Given the description of an element on the screen output the (x, y) to click on. 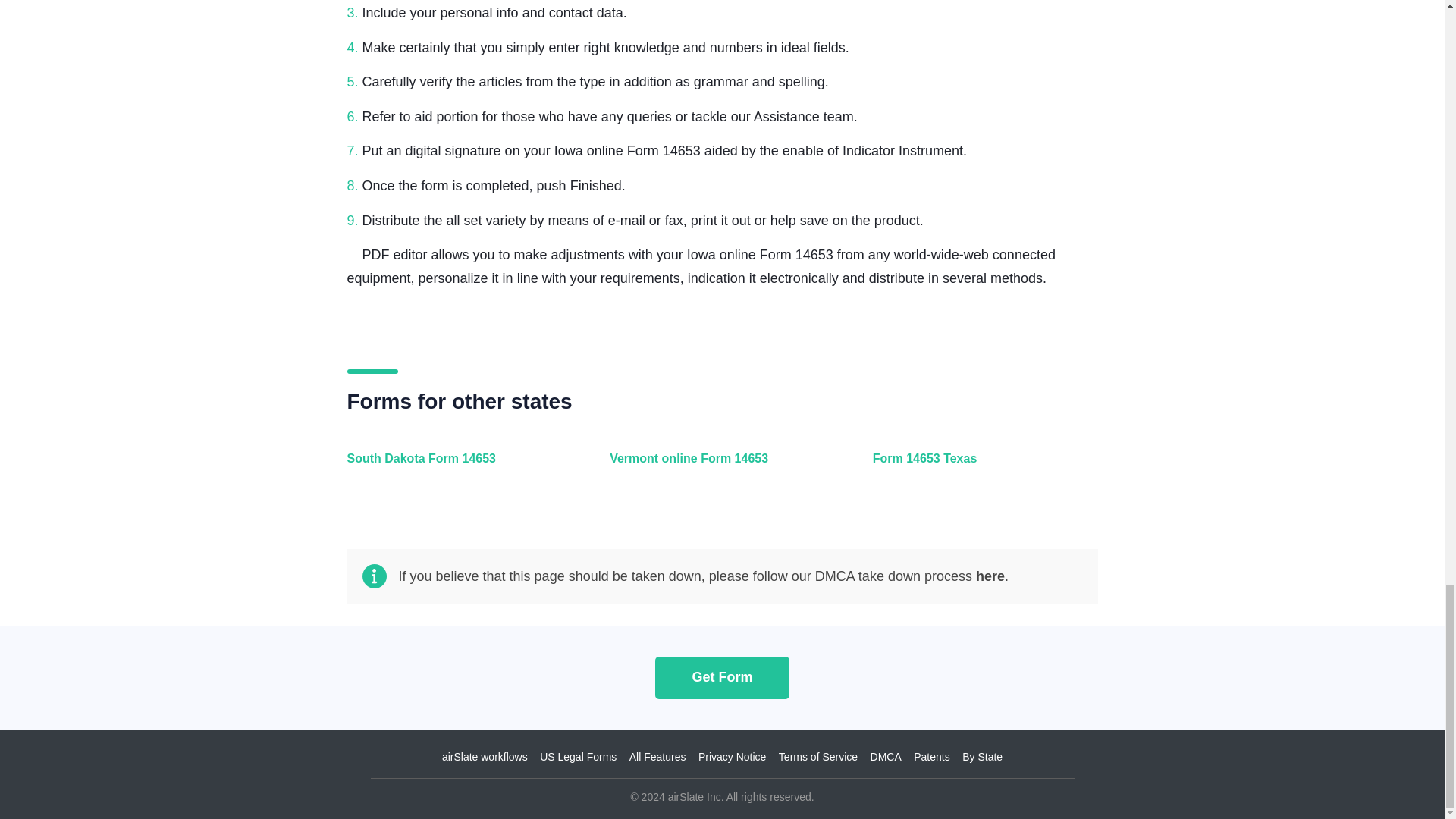
airSlate workflows (484, 756)
DMCA (885, 756)
here (989, 575)
Get Form (722, 676)
US Legal Forms (577, 756)
Form 14653 Texas (981, 466)
South Dakota Form 14653 (456, 466)
All Features (656, 756)
Terms of Service (817, 756)
Patents (931, 756)
